Given the description of an element on the screen output the (x, y) to click on. 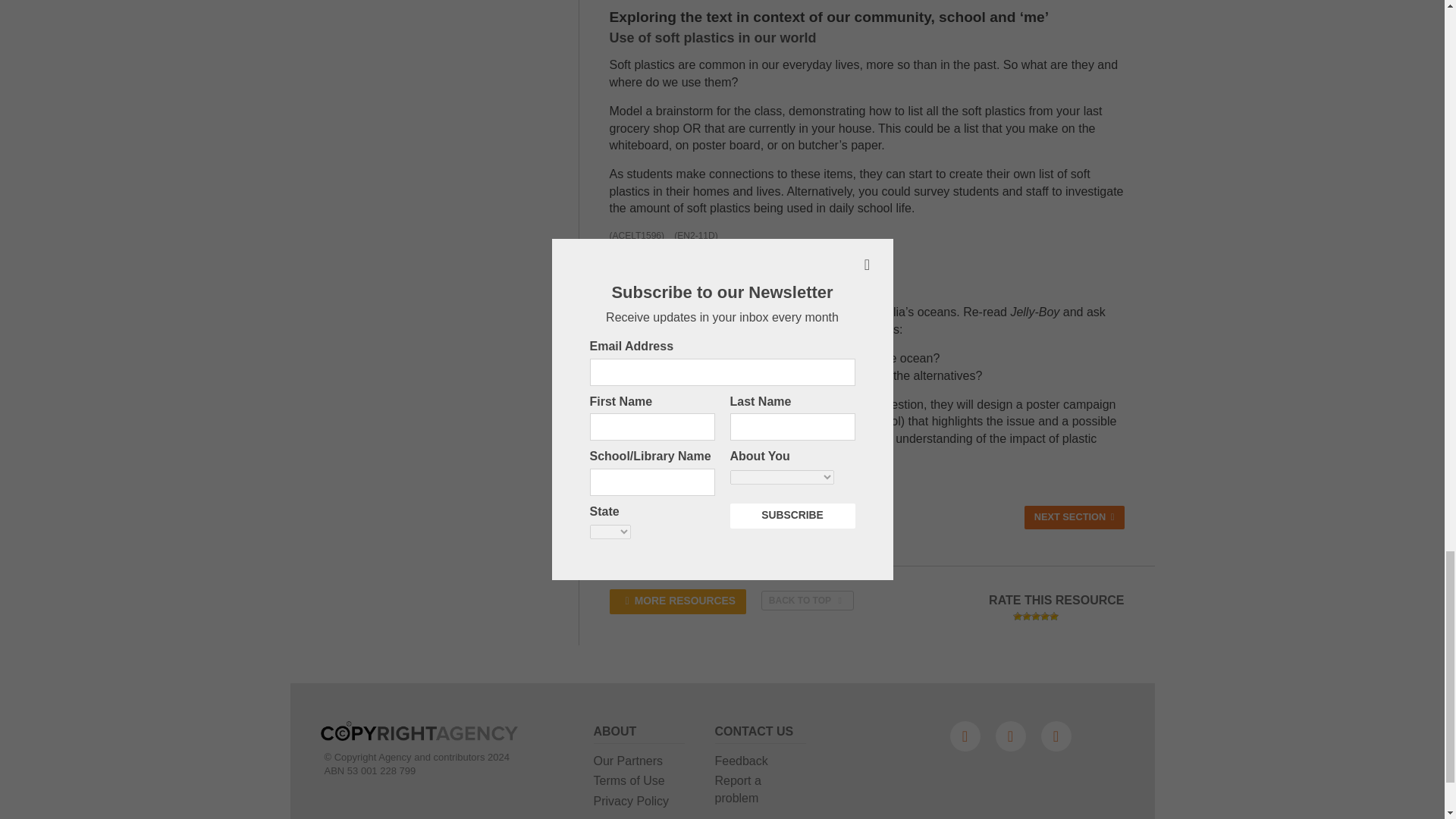
1 Star (1017, 615)
2 Stars (1026, 615)
4 Stars (1045, 615)
5 Stars (1053, 615)
3 Stars (1035, 615)
